Given the description of an element on the screen output the (x, y) to click on. 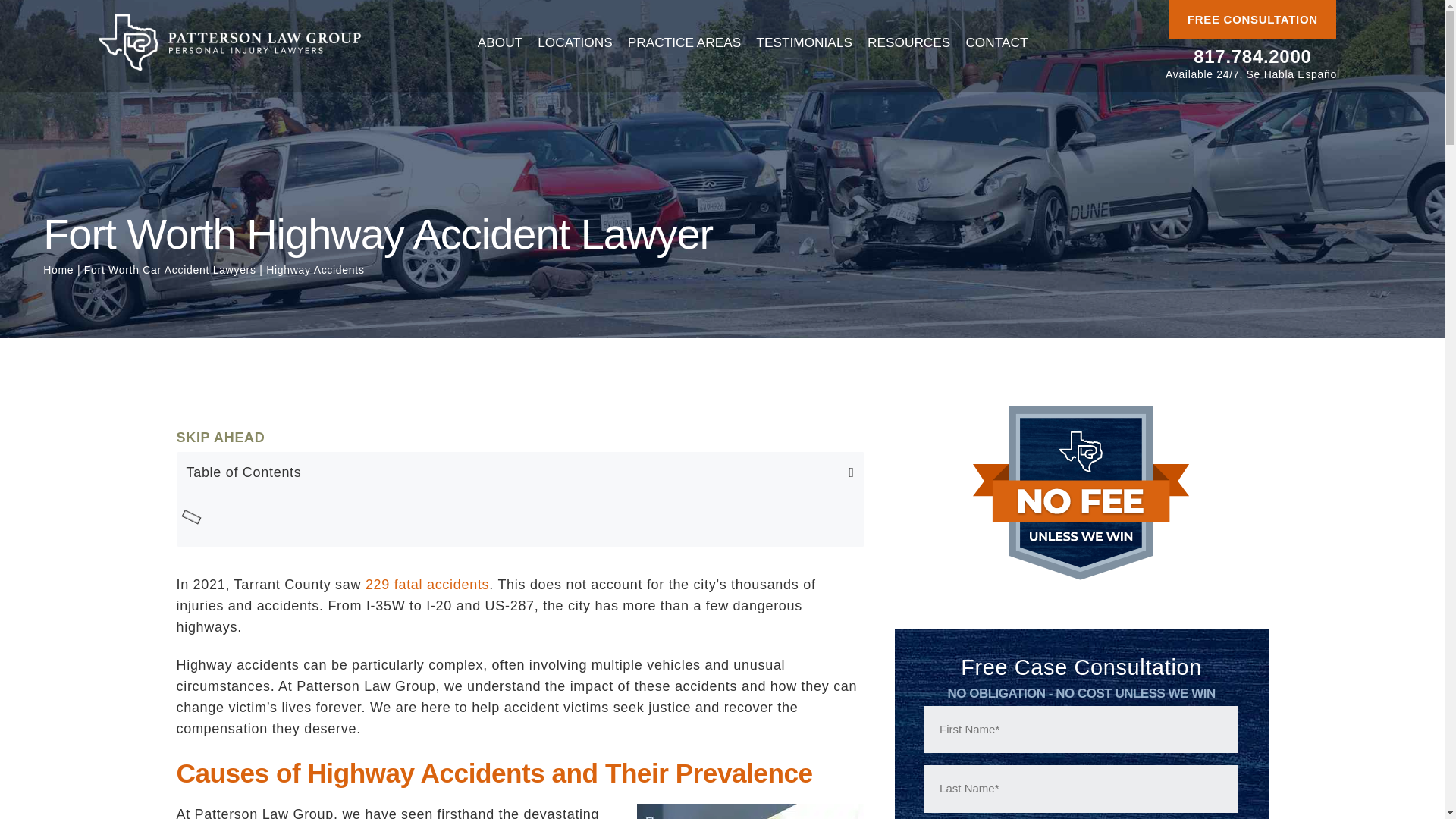
ABOUT (499, 42)
LOCATIONS (574, 42)
